Given the description of an element on the screen output the (x, y) to click on. 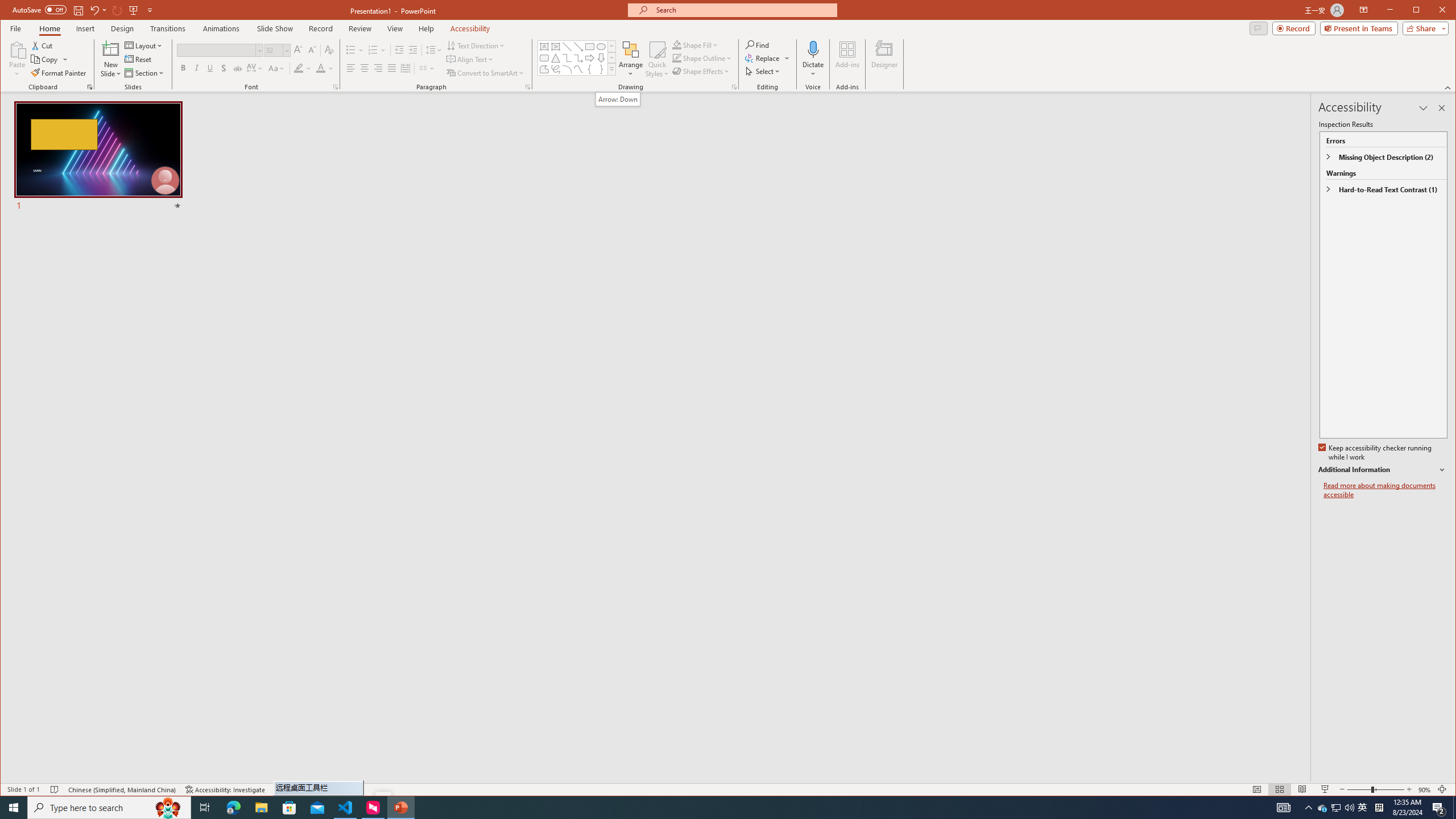
Select (763, 70)
Arrange (631, 59)
Shape Outline (702, 57)
Find... (758, 44)
Center (364, 68)
Format Painter (59, 72)
